Given the description of an element on the screen output the (x, y) to click on. 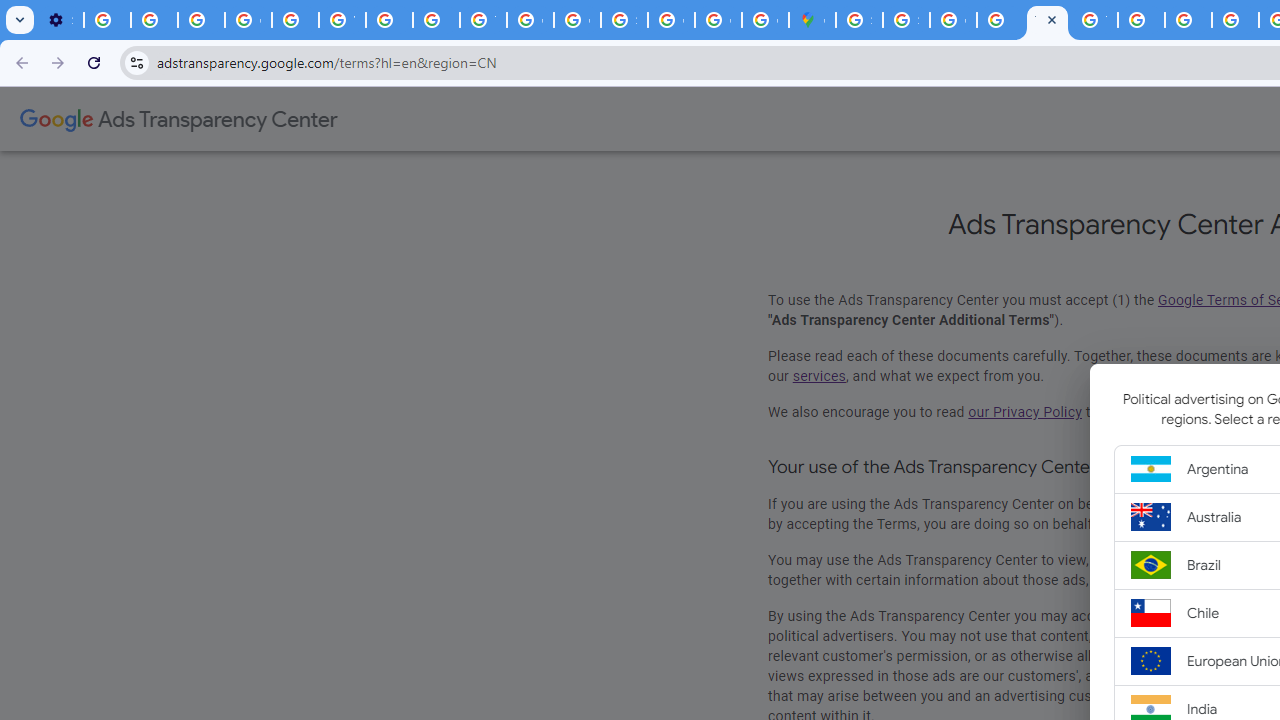
our Privacy Policy (1024, 412)
Learn how to find your photos - Google Photos Help (153, 20)
Terms and Conditions (1047, 20)
Terms and Conditions (1094, 20)
Delete photos & videos - Computer - Google Photos Help (107, 20)
Privacy Help Center - Policies Help (1235, 20)
services (819, 376)
Privacy Help Center - Policies Help (1188, 20)
Settings - Customize profile (60, 20)
